Given the description of an element on the screen output the (x, y) to click on. 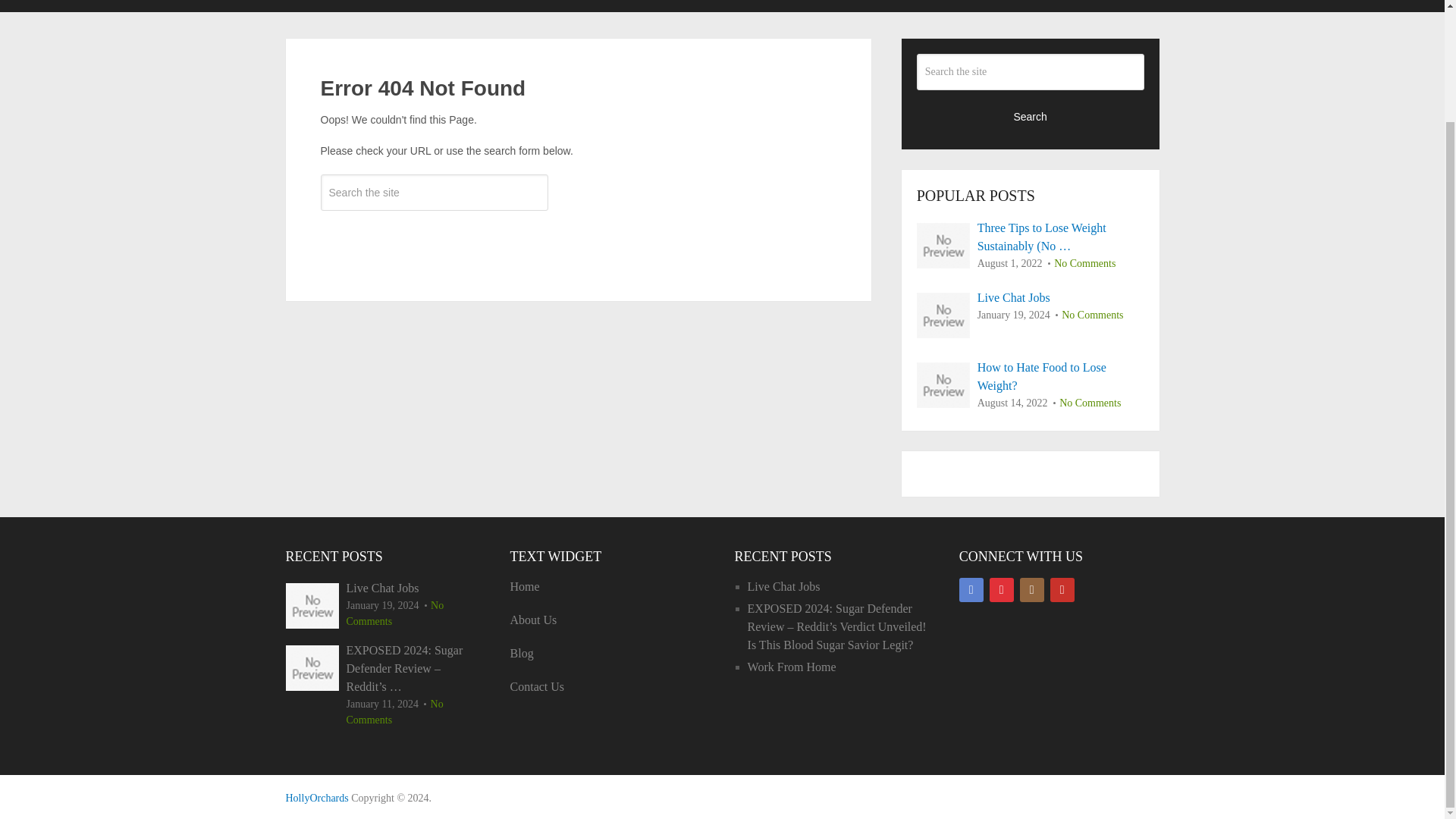
How to Hate Food to Lose Weight? (1030, 376)
MISCELLANEOUS (786, 6)
Search (1030, 115)
EXERCISE (545, 6)
Search (433, 236)
Pinterest (1001, 589)
REMEDIES (909, 6)
WEIGHT LOSS (1022, 6)
BEAUTY (351, 6)
